Given the description of an element on the screen output the (x, y) to click on. 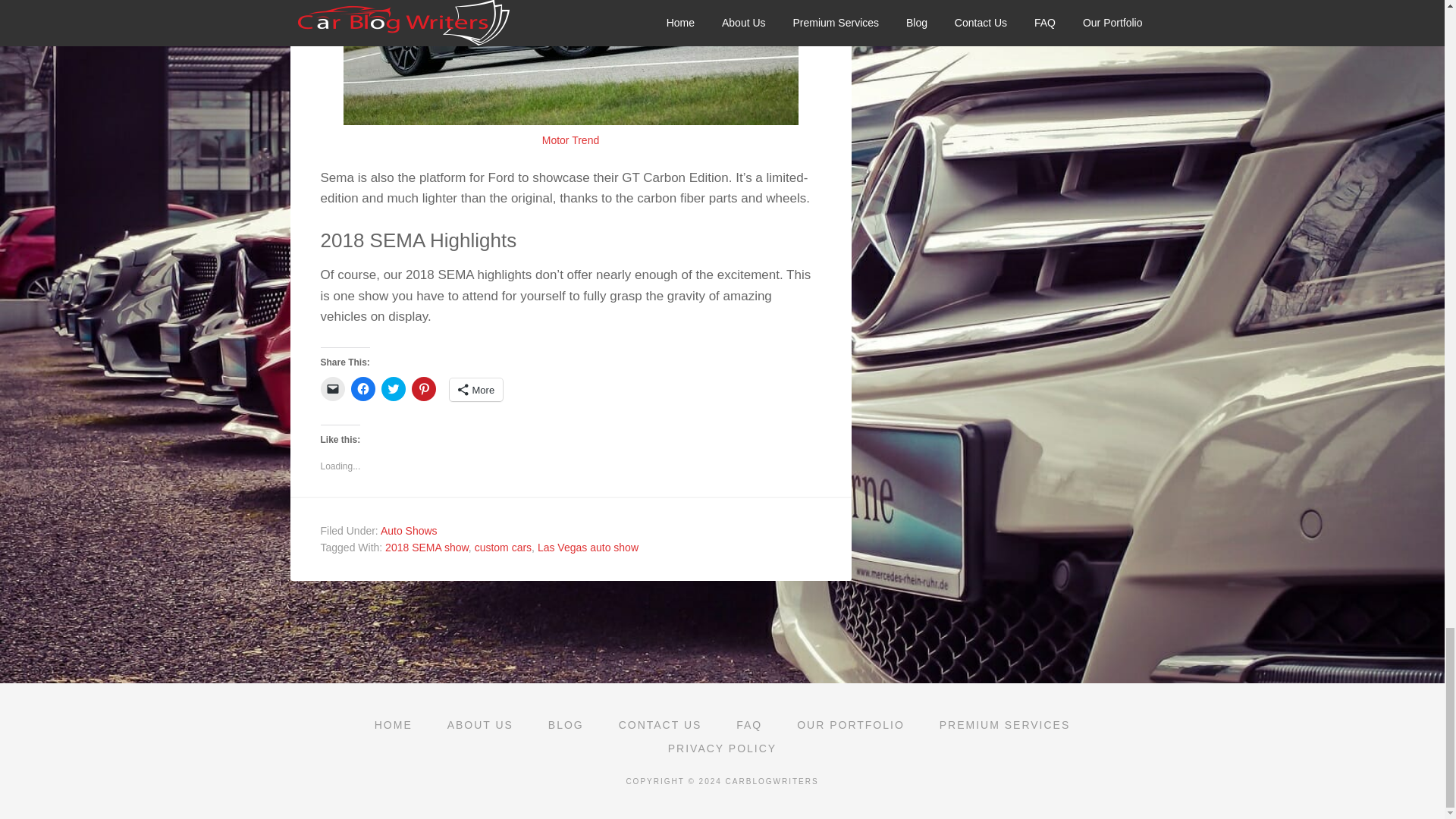
More (475, 389)
Auto Shows (409, 530)
Click to share on Pinterest (422, 388)
Click to email a link to a friend (331, 388)
Click to share on Facebook (362, 388)
FAQ (748, 725)
custom cars (502, 547)
Motor Trend (569, 140)
HOME (393, 725)
2018 SEMA show (426, 547)
